Given the description of an element on the screen output the (x, y) to click on. 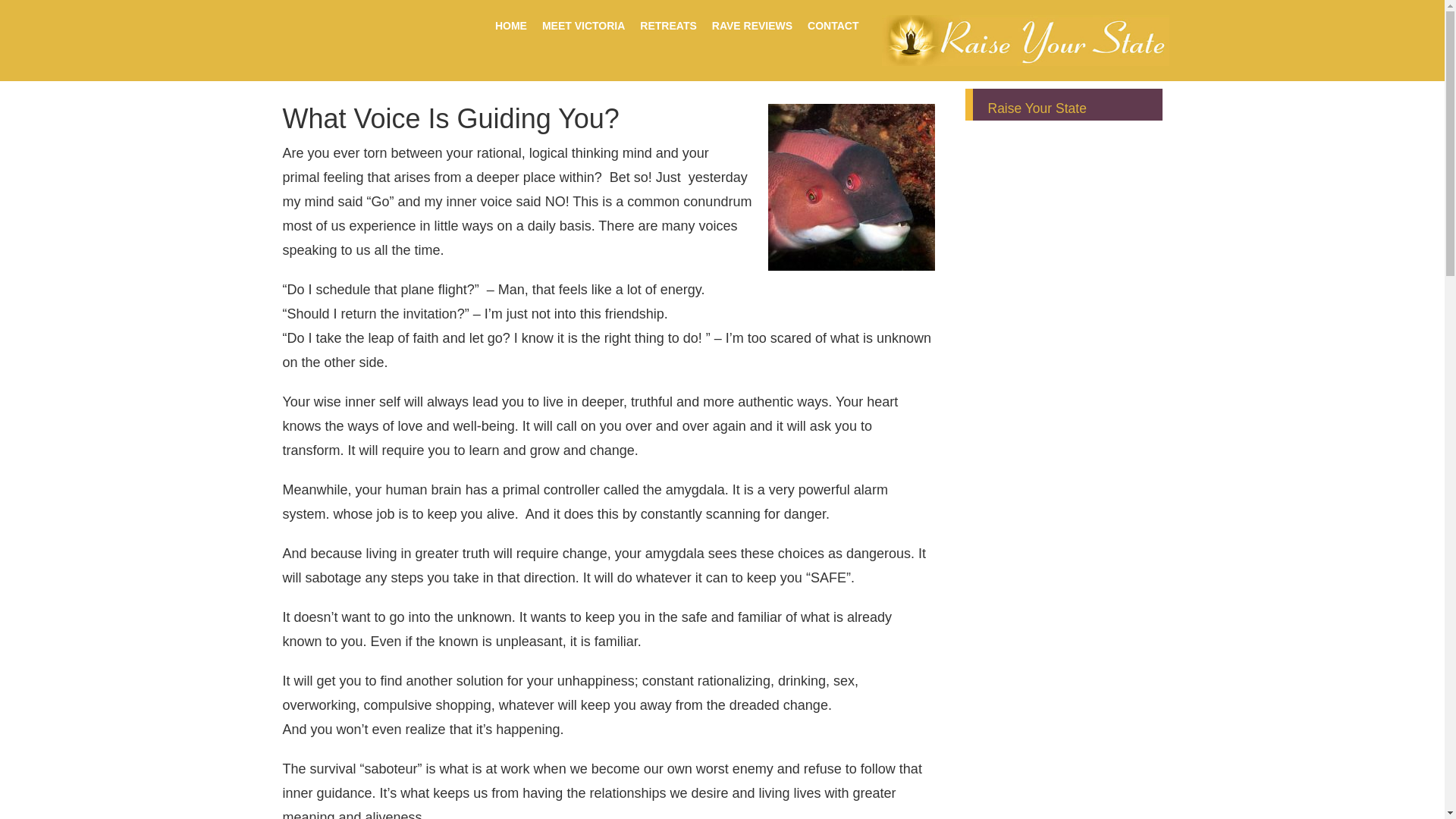
Raise Your State (1036, 108)
RETREATS (667, 25)
MEET VICTORIA (582, 25)
CONTACT (832, 25)
RAVE REVIEWS (751, 25)
HOME (510, 25)
